Given the description of an element on the screen output the (x, y) to click on. 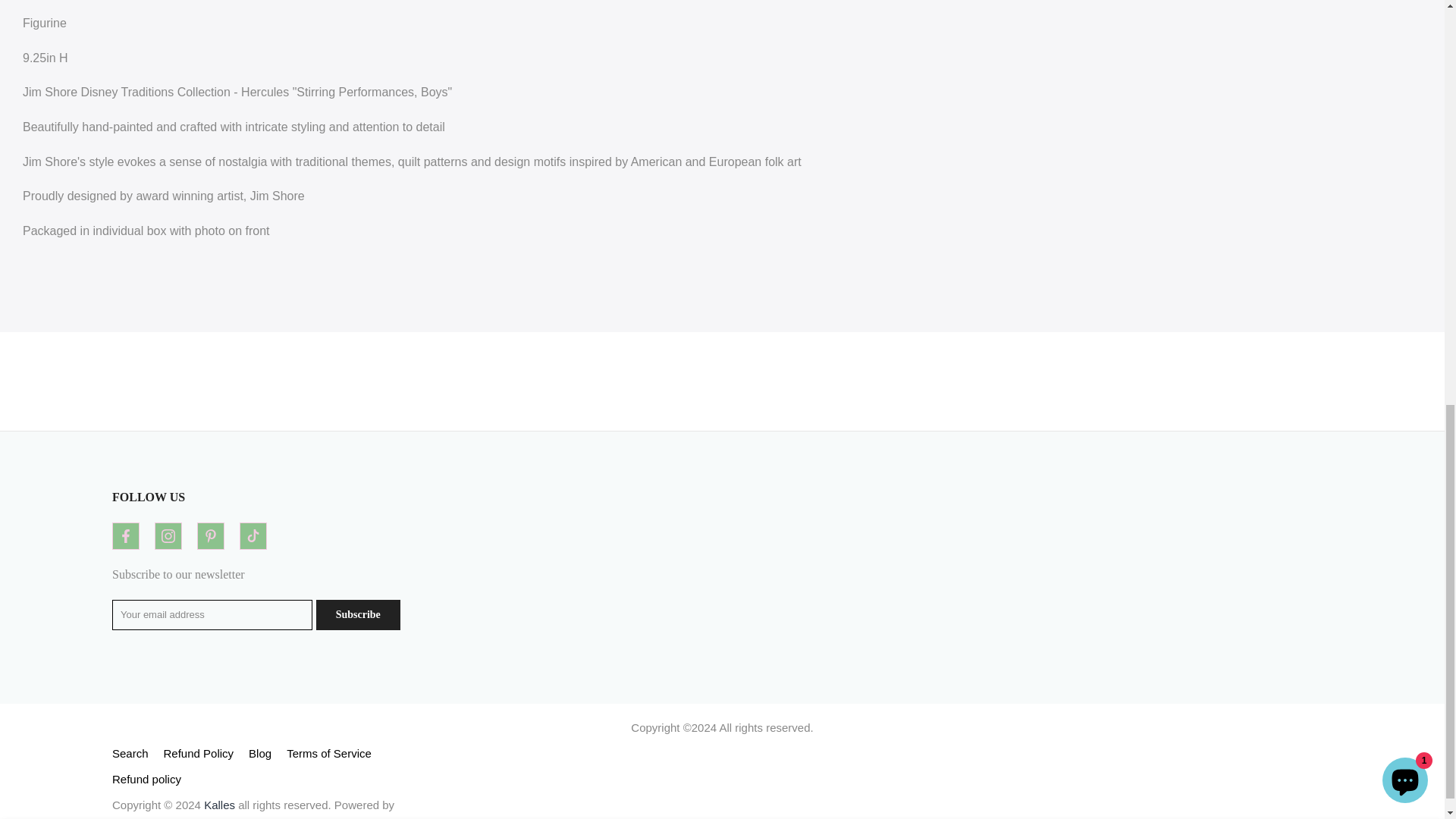
Follow on Facebook (125, 535)
Follow on Instagram (168, 535)
1 (892, 35)
Follow on Pinterest (210, 535)
Follow on Tiktok (253, 535)
